Given the description of an element on the screen output the (x, y) to click on. 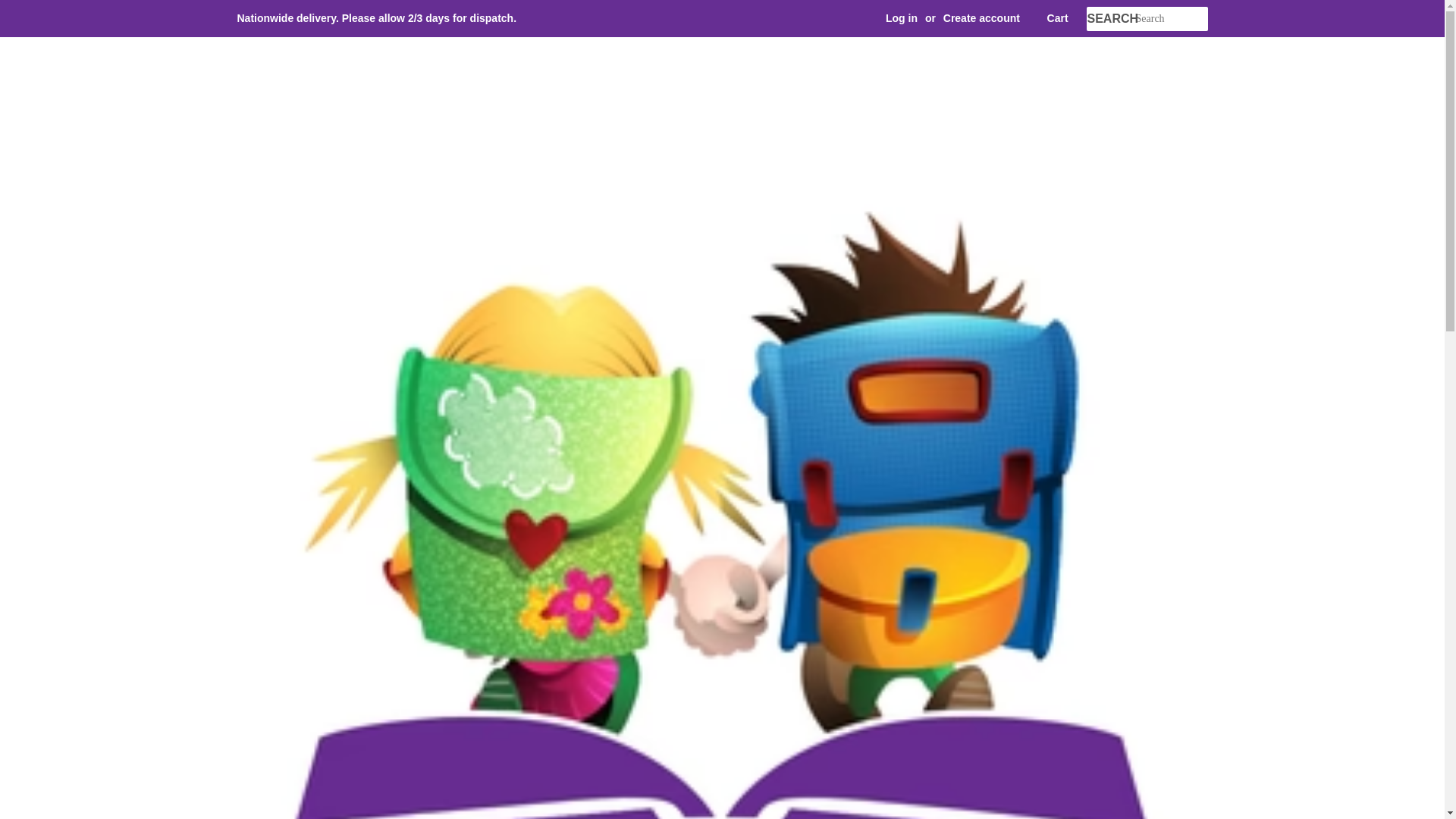
Cart (1057, 18)
SEARCH (1110, 18)
Log in (901, 18)
Create account (981, 18)
